Given the description of an element on the screen output the (x, y) to click on. 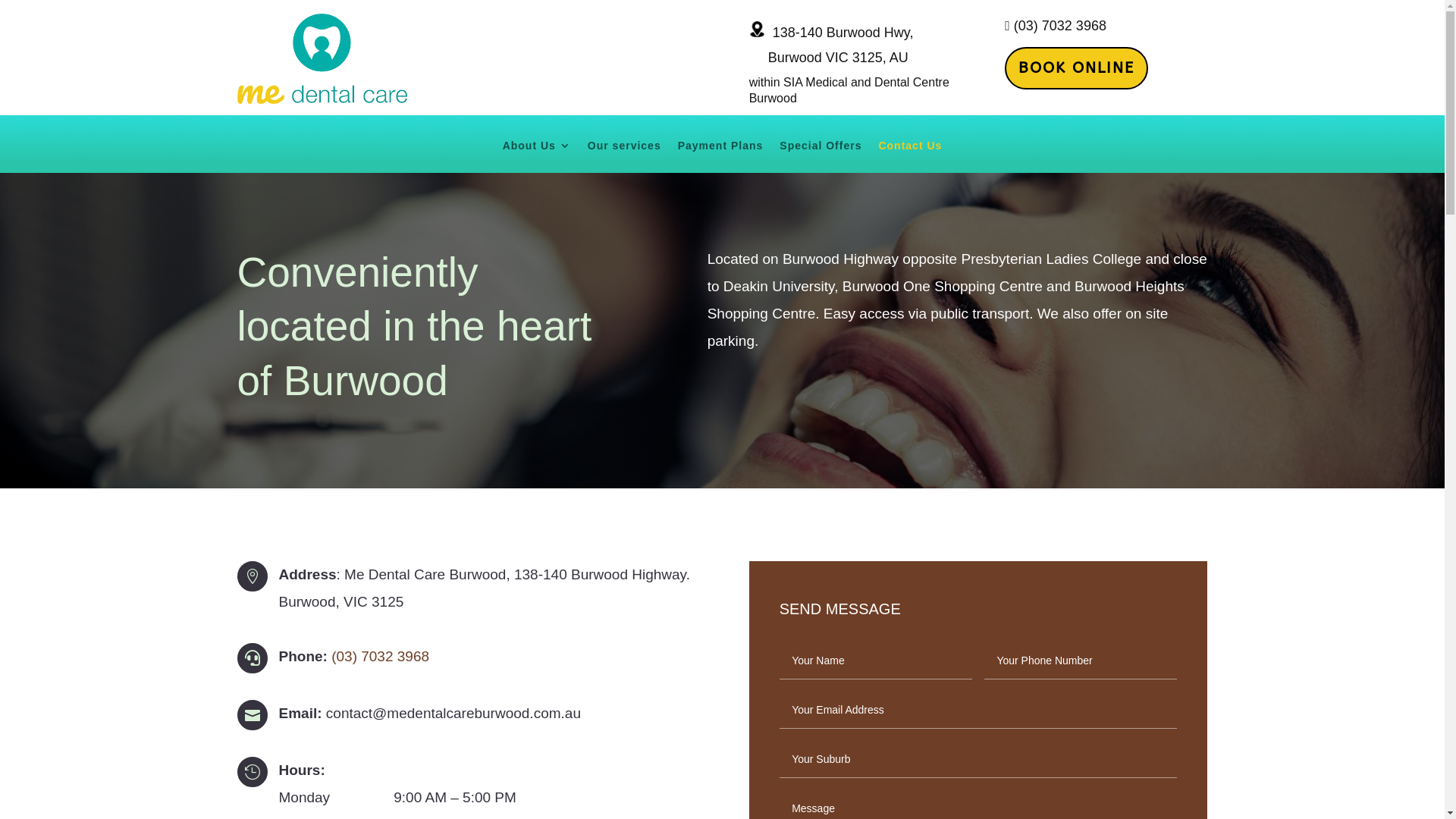
Only letters allowed. Element type: hover (1080, 660)
BOOK ONLINE Element type: text (1076, 68)
     Burwood VIC 3125, AU  Element type: text (830, 57)
Our services Element type: text (624, 156)
Payment Plans Element type: text (720, 156)
Special Offers Element type: text (820, 156)
logo (3) Element type: hover (321, 58)
Contact Us Element type: text (909, 156)
(03) 7032 3968  Element type: text (382, 656)
  138-140 Burwood Hwy, Element type: text (831, 32)
About Us Element type: text (536, 156)
